Given the description of an element on the screen output the (x, y) to click on. 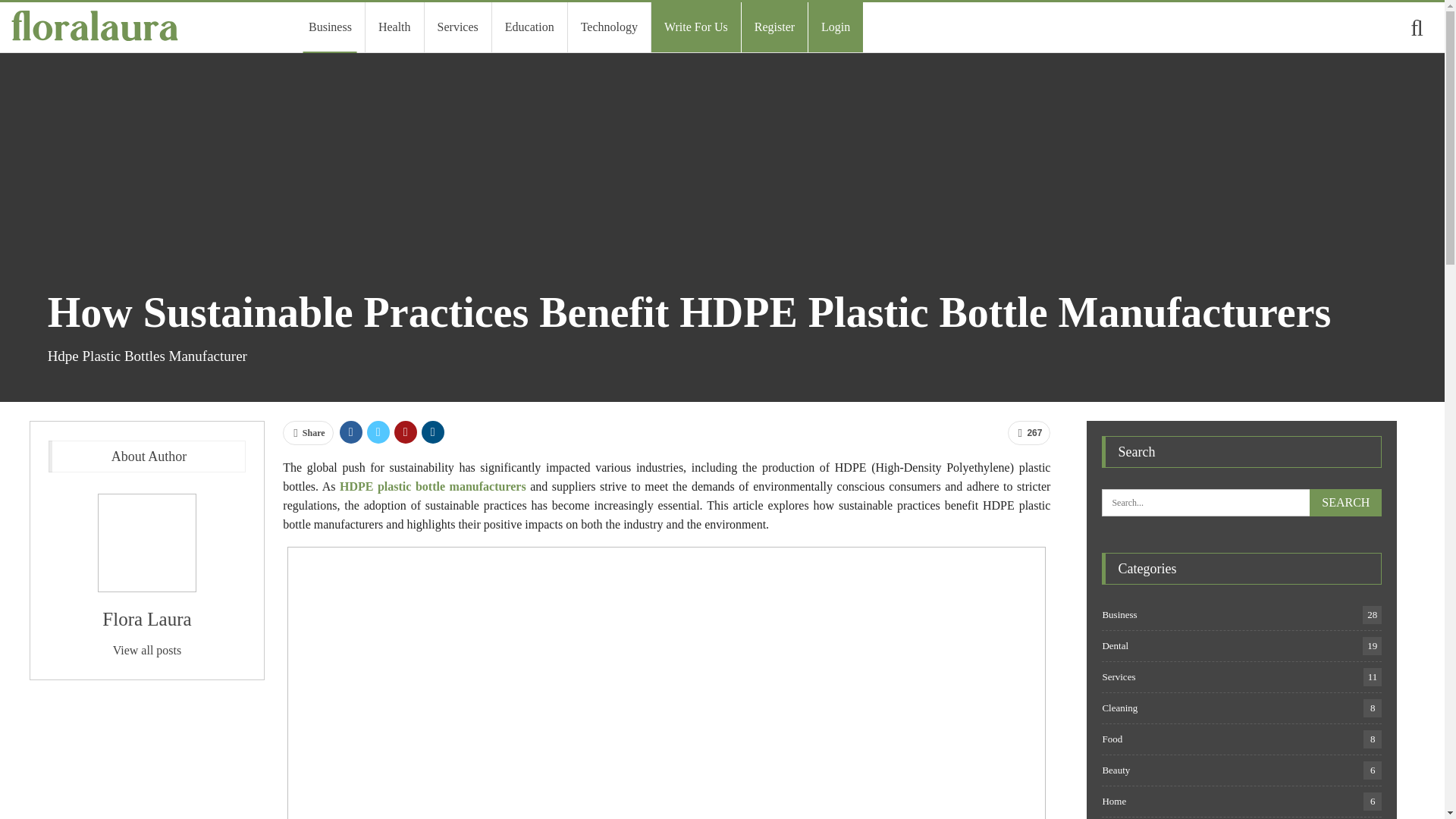
Business (329, 27)
Technology (609, 27)
Education (529, 27)
Technology (609, 27)
HDPE plastic bottle manufacturers (432, 486)
Register (774, 27)
Services (457, 27)
Write For Us (1119, 707)
